Given the description of an element on the screen output the (x, y) to click on. 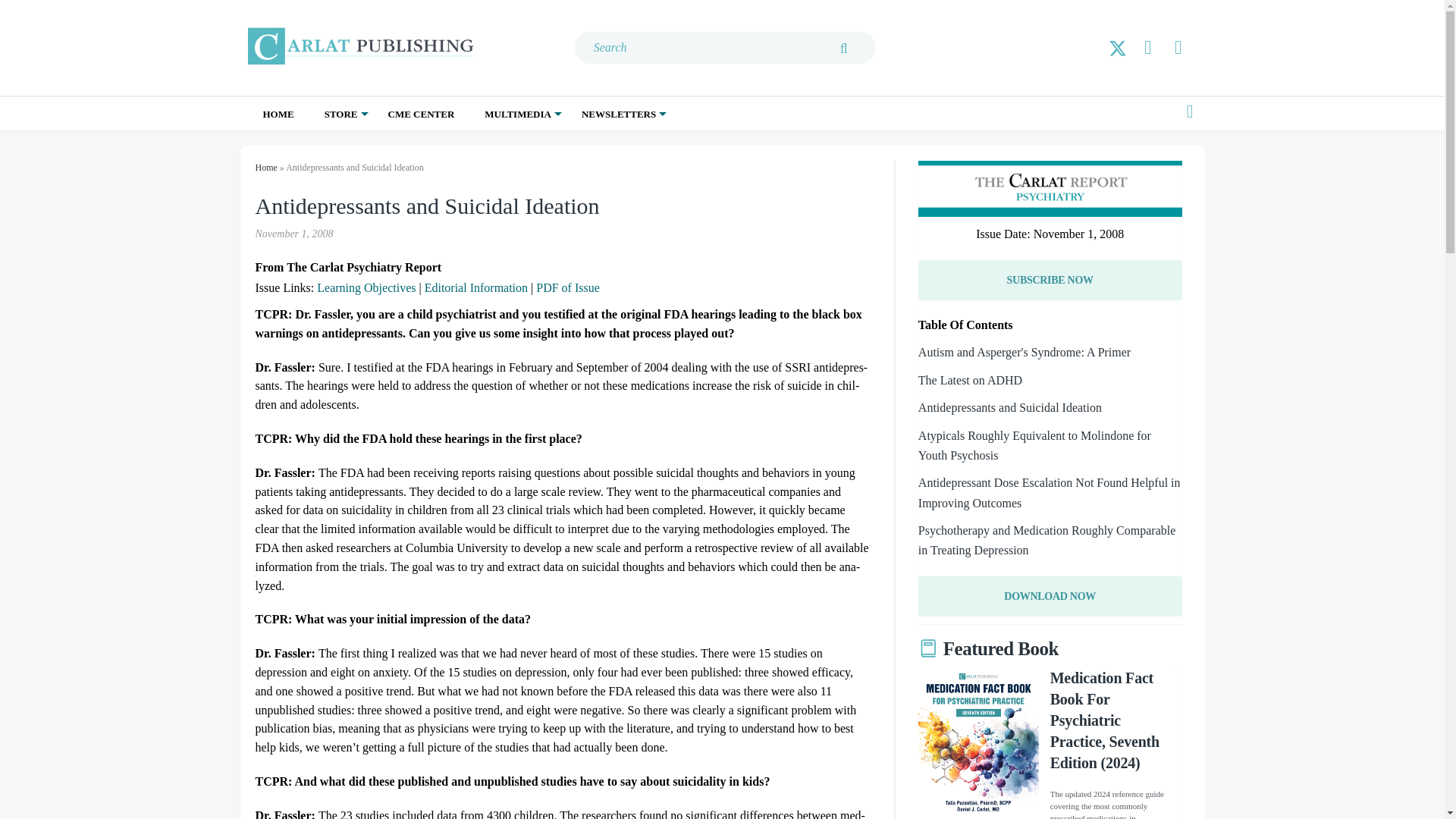
EBOOKS (407, 145)
GERIATRIC PSYCHIATRY (666, 154)
HOME (277, 113)
HOSPITAL PSYCHIATRY (662, 145)
PDF of Issue (567, 287)
Learning Objectives (365, 287)
NEWSLETTERS (618, 113)
Learning Objectives (365, 287)
BLOG (557, 145)
ABPN SA COURSES (410, 145)
